Given the description of an element on the screen output the (x, y) to click on. 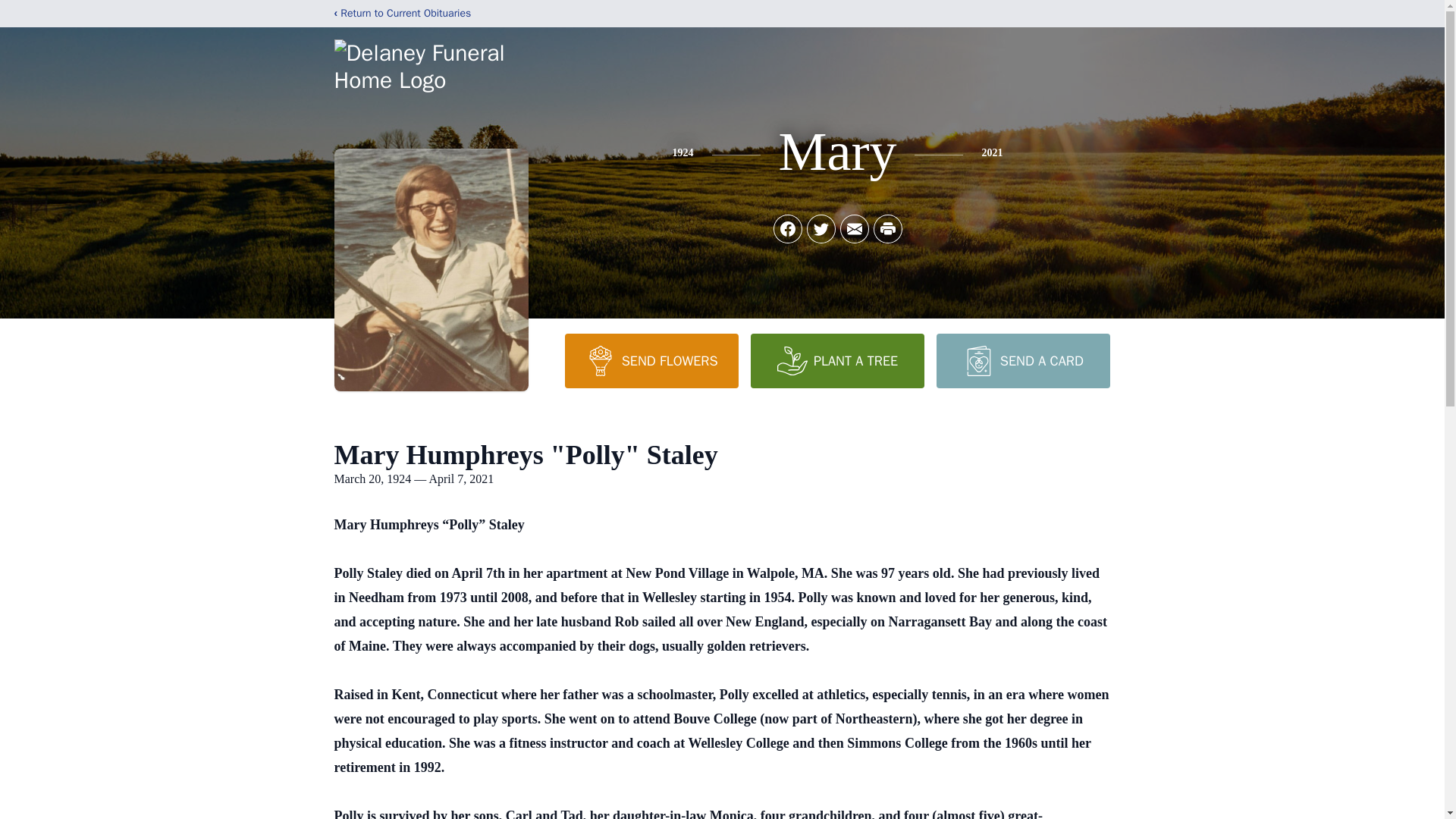
PLANT A TREE (837, 360)
SEND A CARD (1022, 360)
SEND FLOWERS (651, 360)
